Given the description of an element on the screen output the (x, y) to click on. 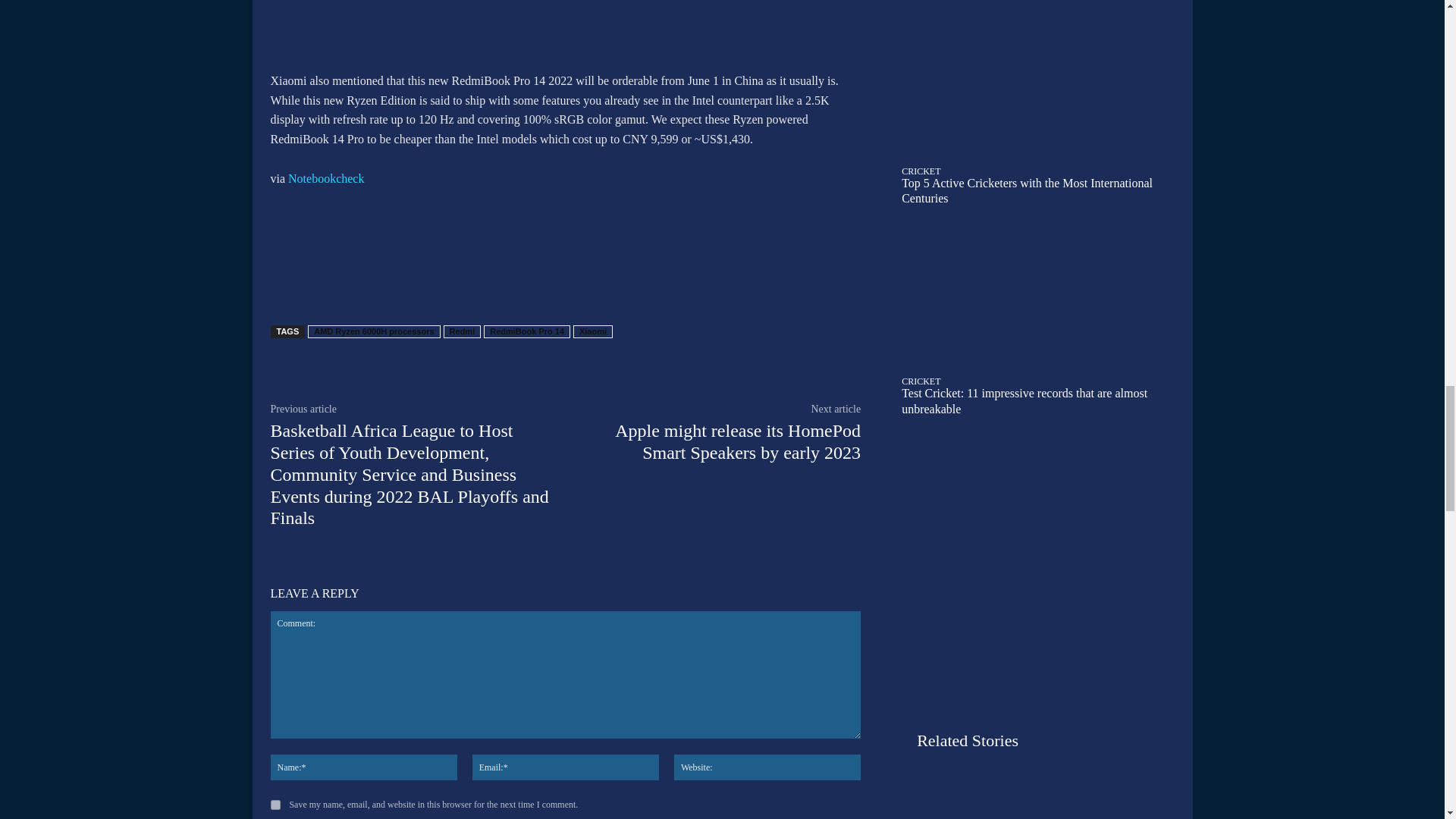
yes (274, 804)
